Given the description of an element on the screen output the (x, y) to click on. 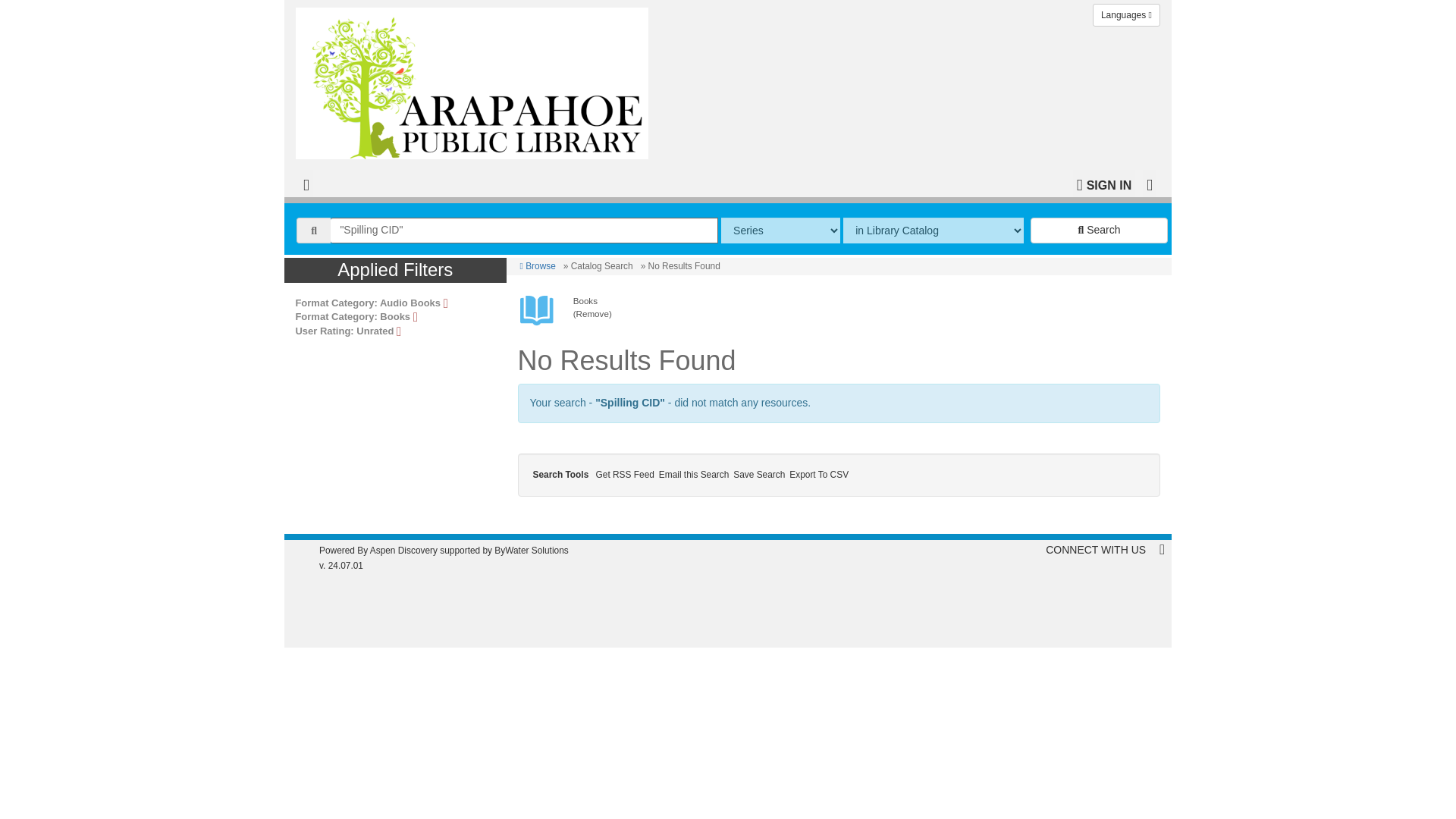
Remove Filter (560, 311)
Return to Catalog Home (475, 79)
Get RSS Feed (627, 474)
Browse (537, 266)
Login (1104, 183)
"Spilling CID" (523, 230)
Languages  (1126, 15)
The method of searching. (780, 230)
Email this Search (696, 474)
 Search (1098, 230)
Browse the catalog (537, 266)
Save Search (761, 474)
SIGN IN (1104, 183)
Export To CSV (818, 474)
